Given the description of an element on the screen output the (x, y) to click on. 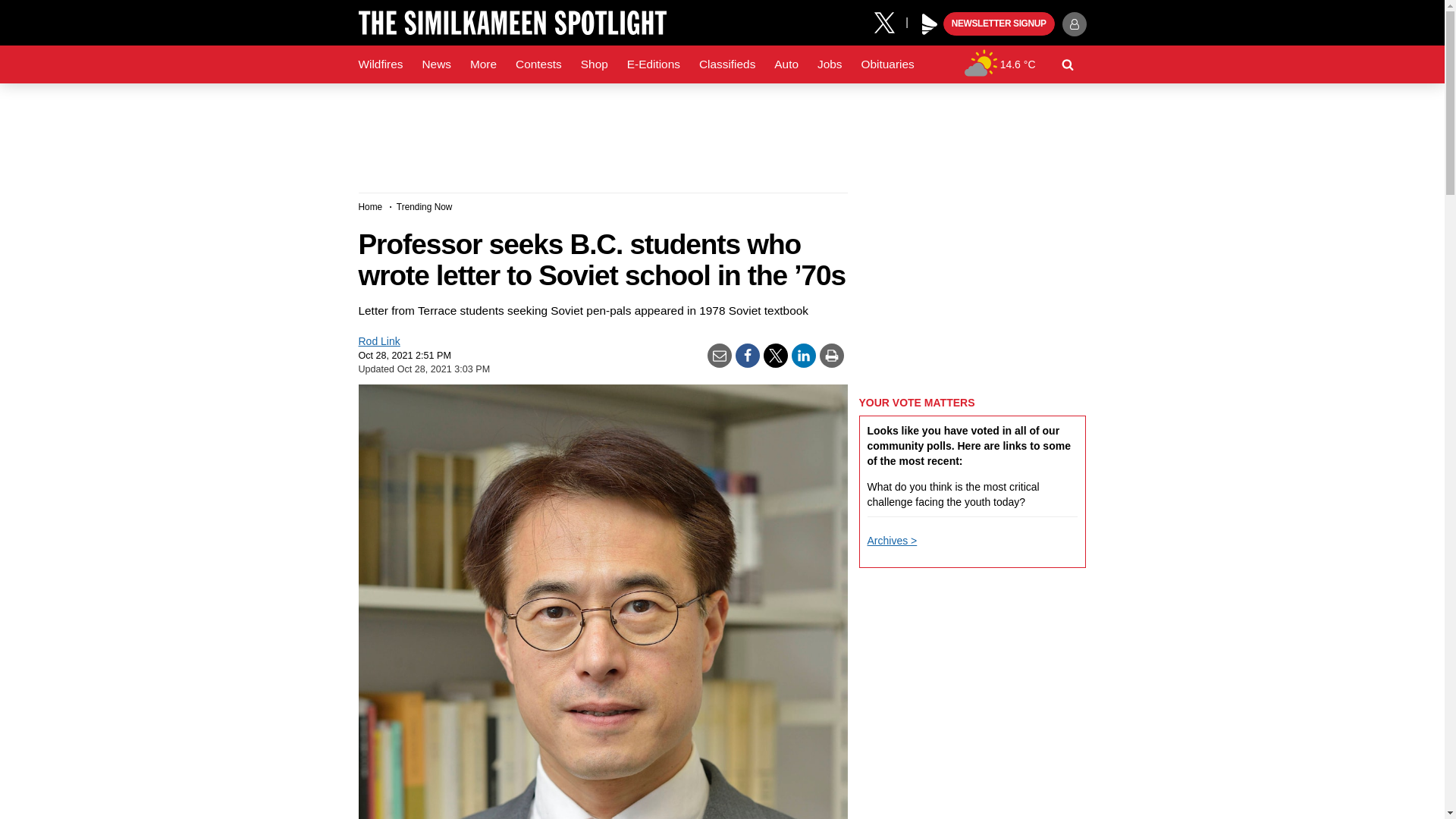
NEWSLETTER SIGNUP (998, 24)
News (435, 64)
Wildfires (380, 64)
Play (929, 24)
X (889, 21)
Black Press Media (929, 24)
